Given the description of an element on the screen output the (x, y) to click on. 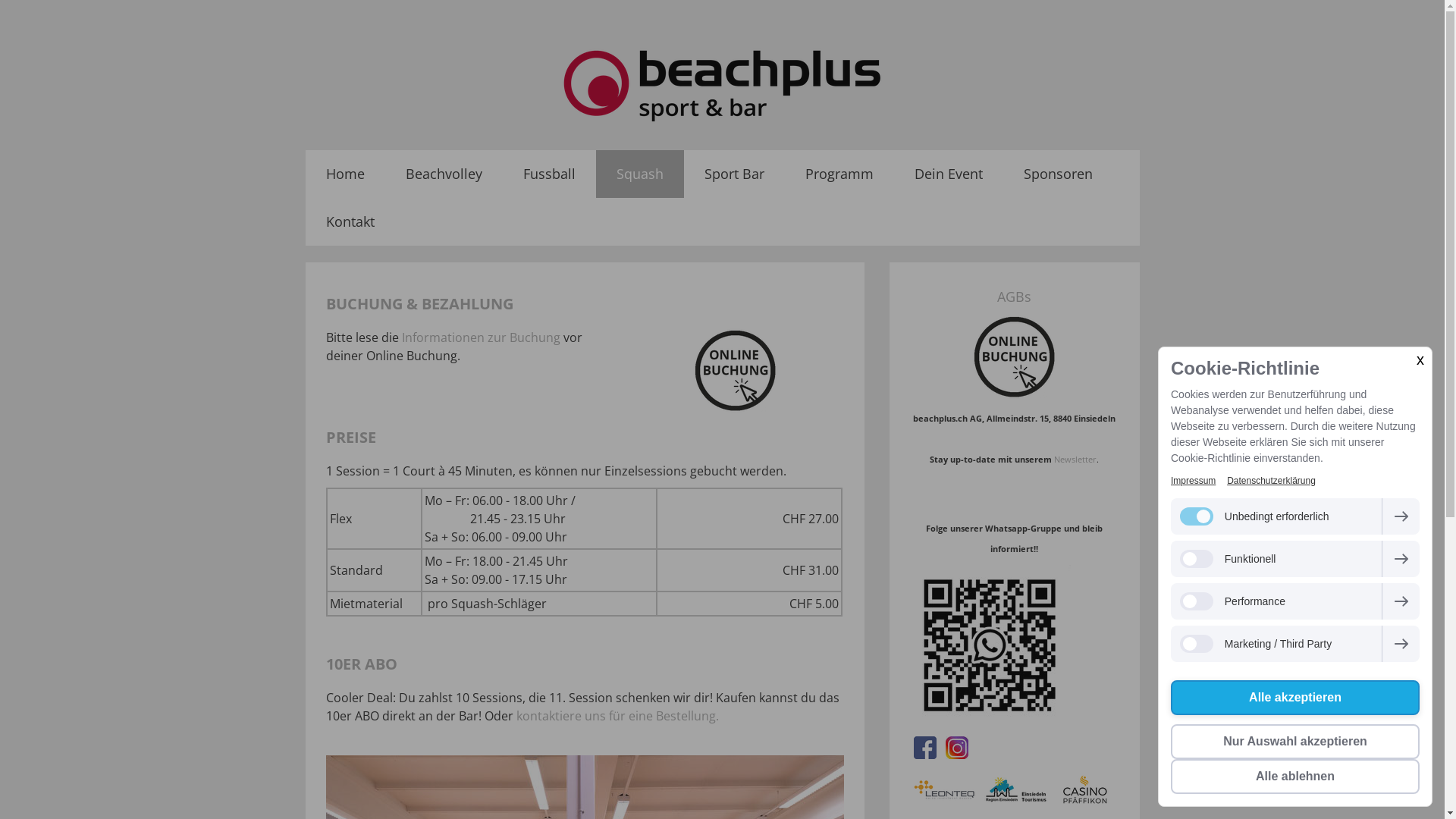
Informationen zur Buchung Element type: text (480, 337)
Programm Element type: text (838, 173)
Home Element type: text (344, 173)
Impressum Element type: text (1192, 480)
Newsletter Element type: text (1075, 458)
Sponsoren Element type: text (1057, 173)
Sport Bar Element type: text (734, 173)
Kontakt Element type: text (349, 221)
Nur Auswahl akzeptieren Element type: text (1294, 741)
Dein Event Element type: text (947, 173)
AGBs Element type: text (1014, 296)
Beachvolley Element type: text (443, 173)
Alle akzeptieren Element type: text (1294, 697)
Squash Element type: text (640, 173)
Alle ablehnen Element type: text (1294, 776)
Fussball Element type: text (548, 173)
